Given the description of an element on the screen output the (x, y) to click on. 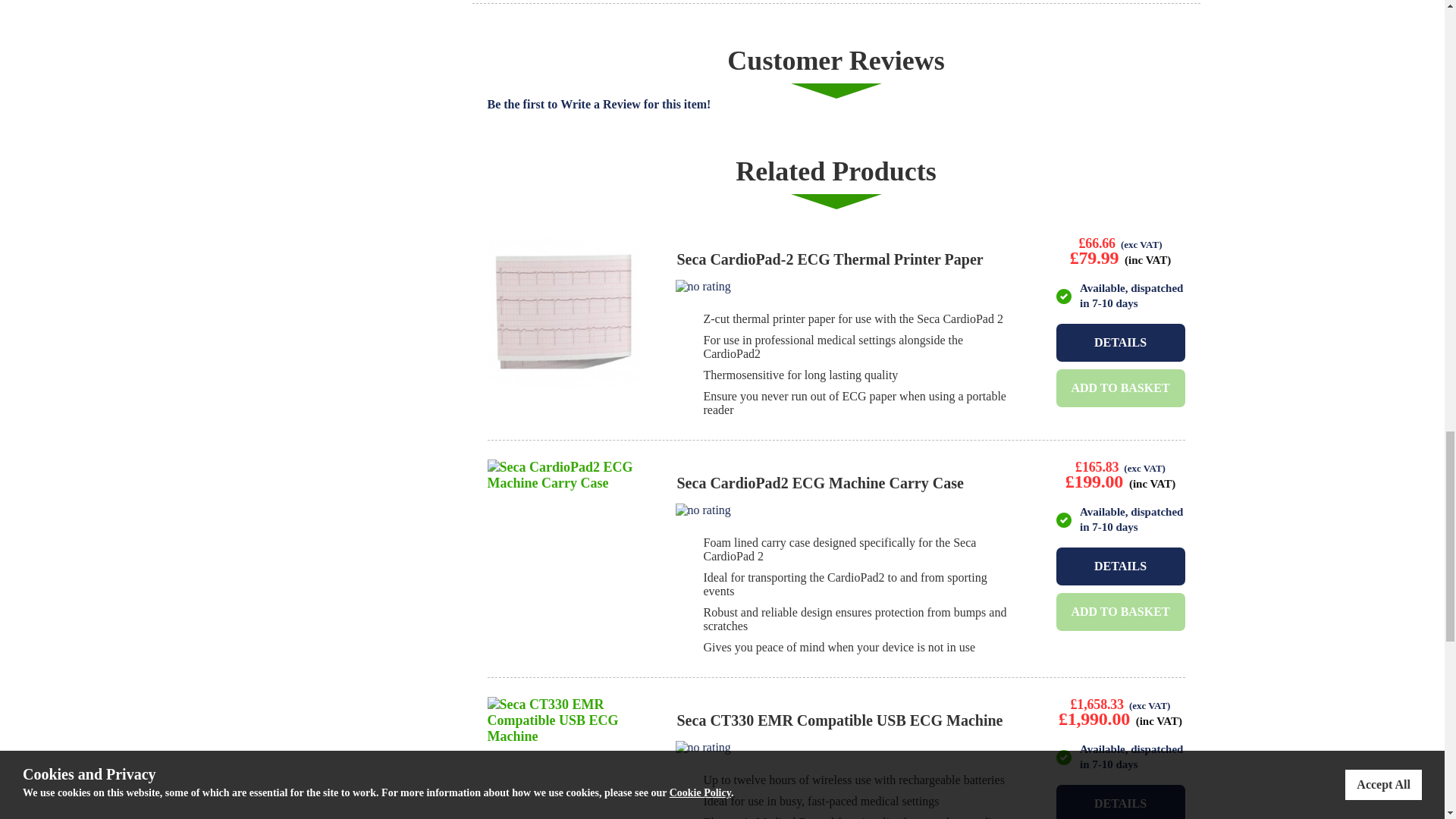
Available, dispatched in 7-10 days (1062, 519)
Available, dispatched in 7-10 days (1062, 756)
Available, dispatched in 7-10 days (1062, 295)
